Given the description of an element on the screen output the (x, y) to click on. 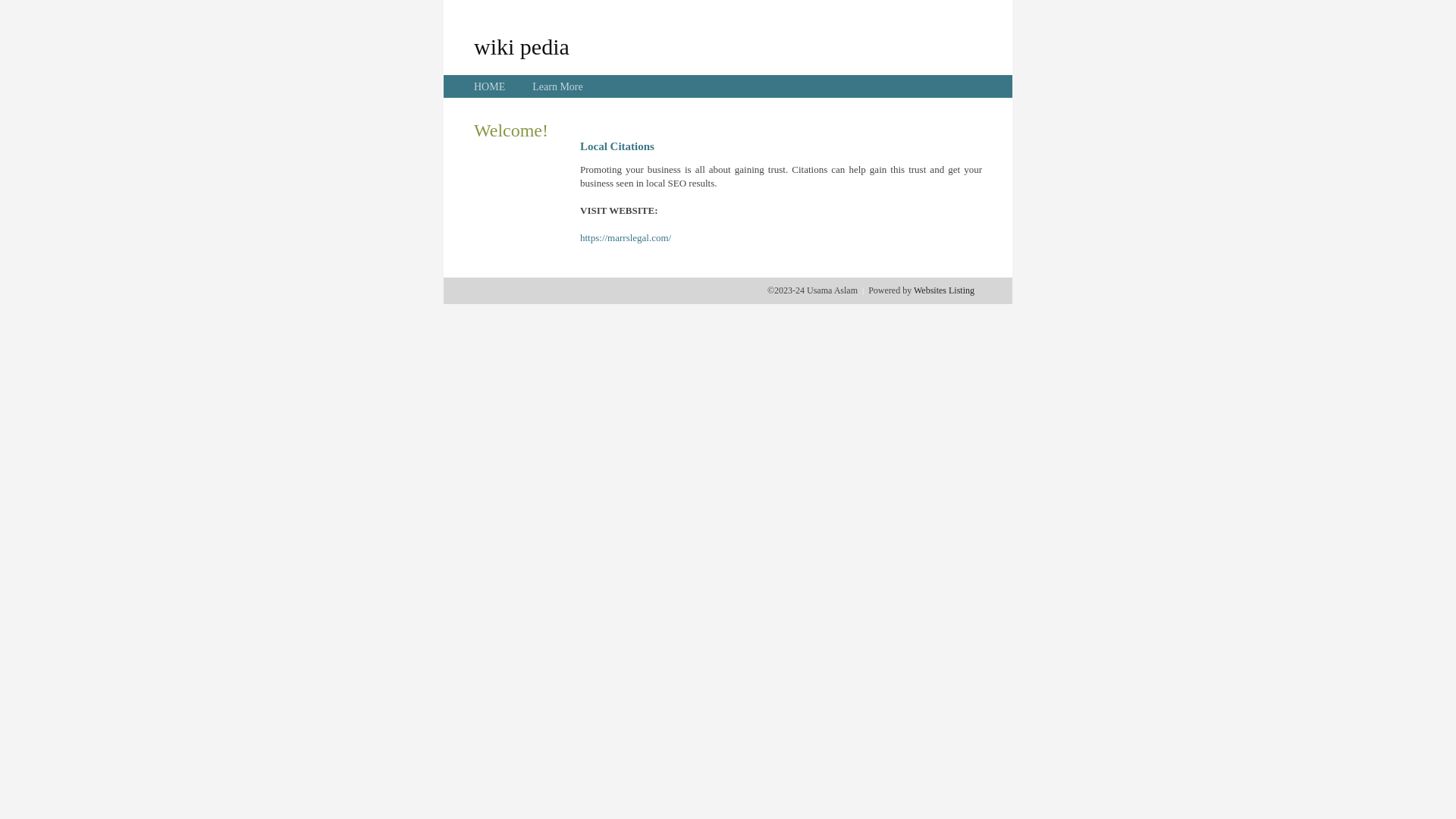
Learn More Element type: text (557, 86)
https://marrslegal.com/ Element type: text (625, 237)
Websites Listing Element type: text (943, 290)
wiki pedia Element type: text (521, 46)
HOME Element type: text (489, 86)
